Given the description of an element on the screen output the (x, y) to click on. 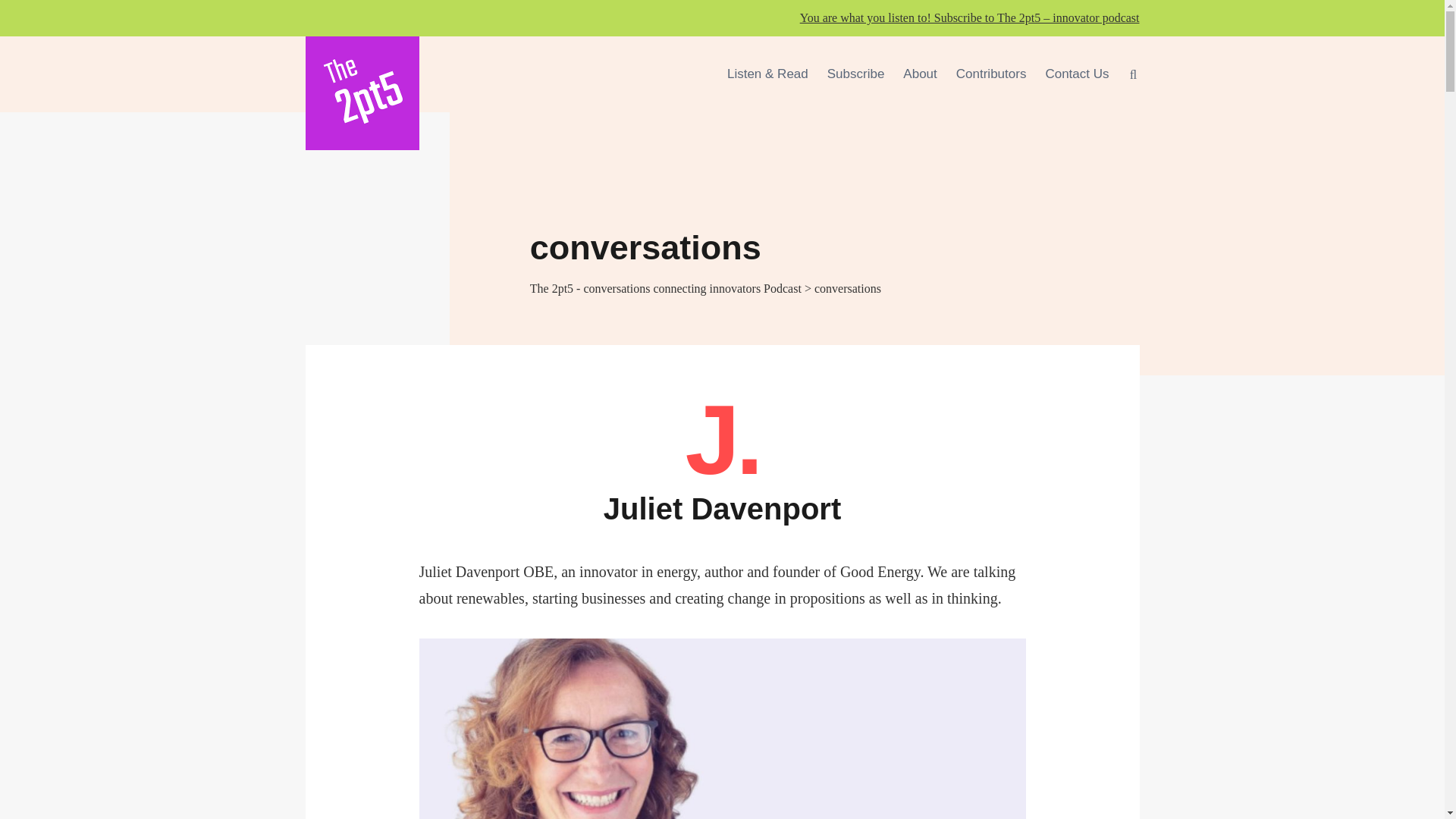
Contributors (991, 73)
About (919, 73)
The 2pt5 - conversations connecting innovators Podcast (665, 287)
Contact Us (1076, 73)
Juliet Davenport (722, 507)
Subscribe (856, 73)
